Given the description of an element on the screen output the (x, y) to click on. 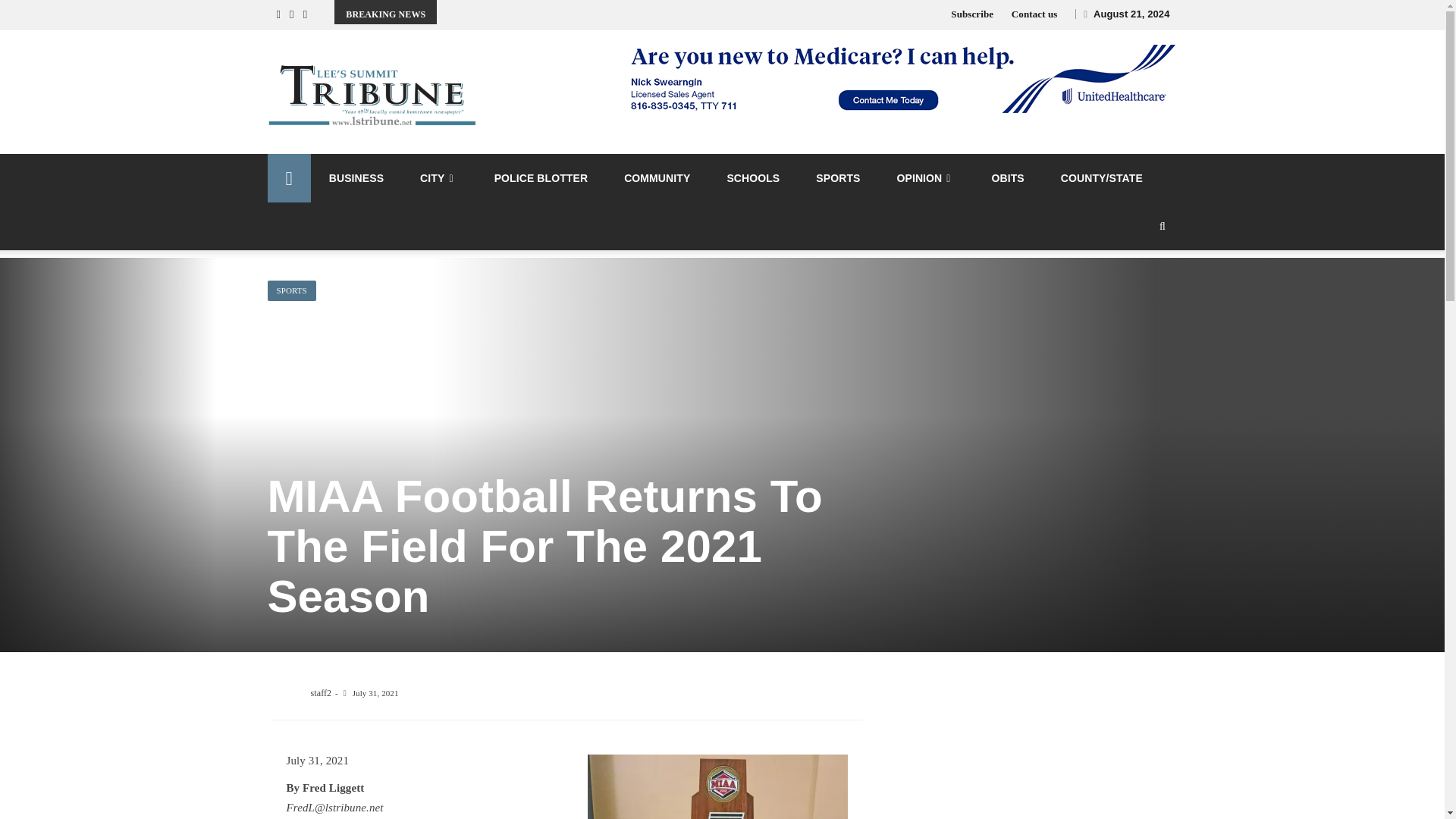
staff2 (321, 692)
Subscribe (971, 13)
OBITS (1008, 177)
SCHOOLS (752, 177)
POLICE BLOTTER (541, 177)
SPORTS (290, 290)
Contact us (1034, 13)
COMMUNITY (656, 177)
BUSINESS (356, 177)
Lee's Summit Tribune (288, 177)
